Given the description of an element on the screen output the (x, y) to click on. 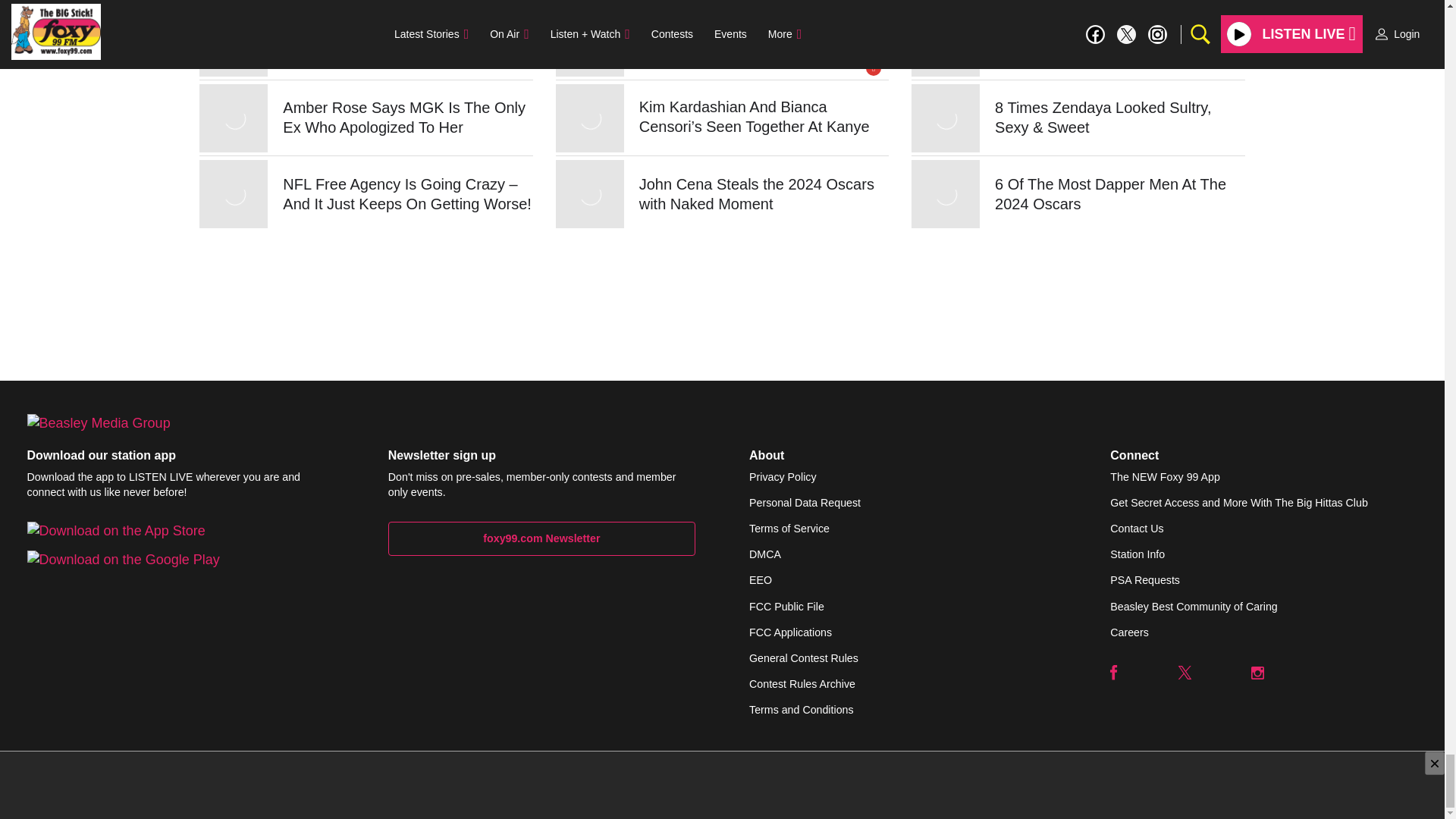
Twitter (1184, 672)
Instagram (1256, 672)
